Given the description of an element on the screen output the (x, y) to click on. 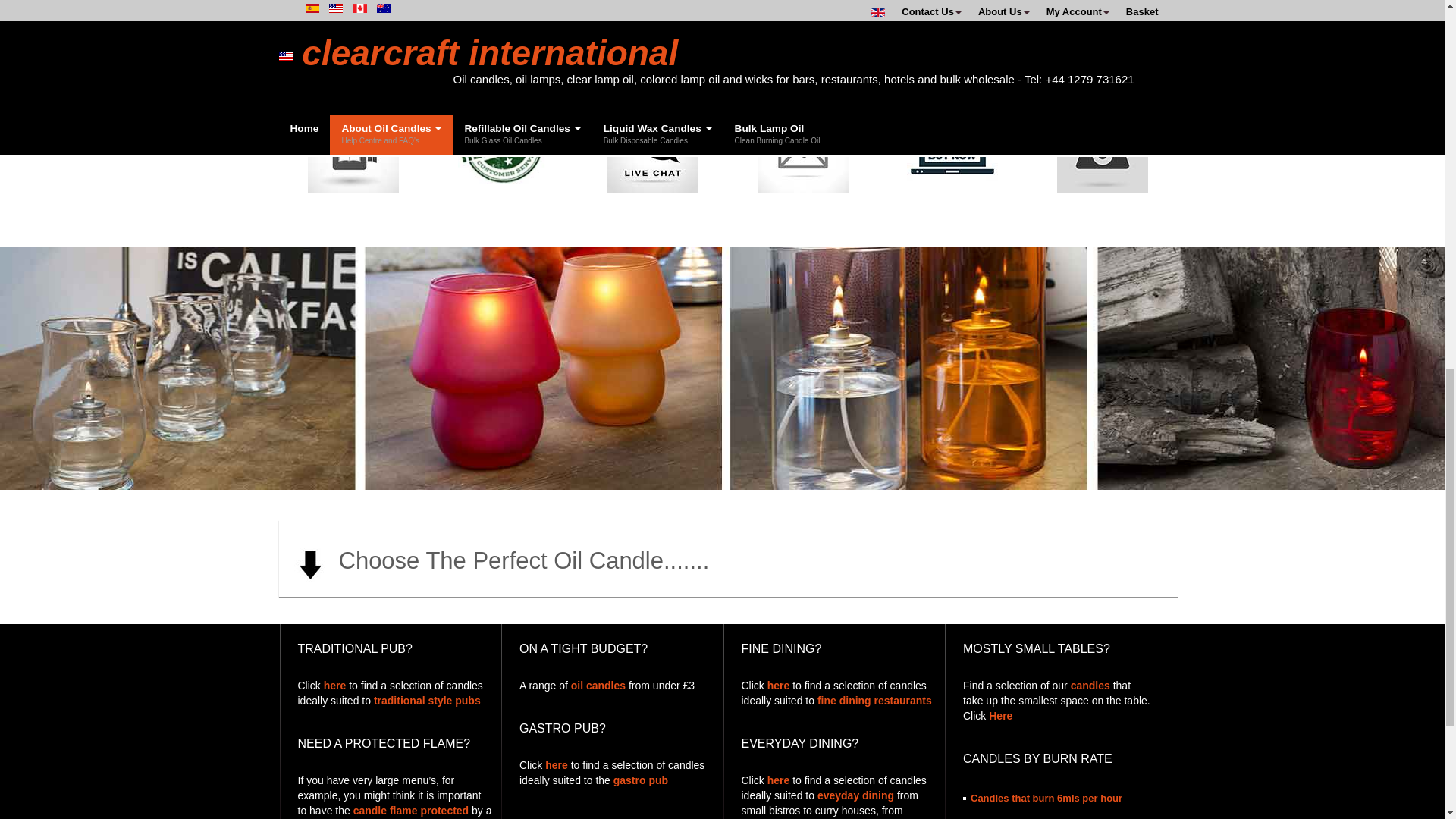
Online Chat (652, 146)
Glass Oil Candles suitable for the Traditional Style Pubs (427, 700)
Video Library (352, 146)
Glass Oil Candles suitable for Everyday Dining (778, 779)
Glass Oil Candles suitable for the Traditional Pub (334, 685)
Email Us (802, 146)
Glass Oil Candles suitable for the Gastro Pub (640, 779)
Glass Oil Candles suitable for the Gastro Pub (555, 765)
Glass Oil Candles suitable for the Everyday Dining (854, 795)
Glass Oil Candles suitable for fine dining restaurants (873, 700)
Glass Oil Candles suitable for Fine Dining (778, 685)
Glass Oil Candles on a Budget (598, 685)
Protected Oil Candles (410, 810)
Help Centre (503, 141)
Wholesale Shop (952, 146)
